Given the description of an element on the screen output the (x, y) to click on. 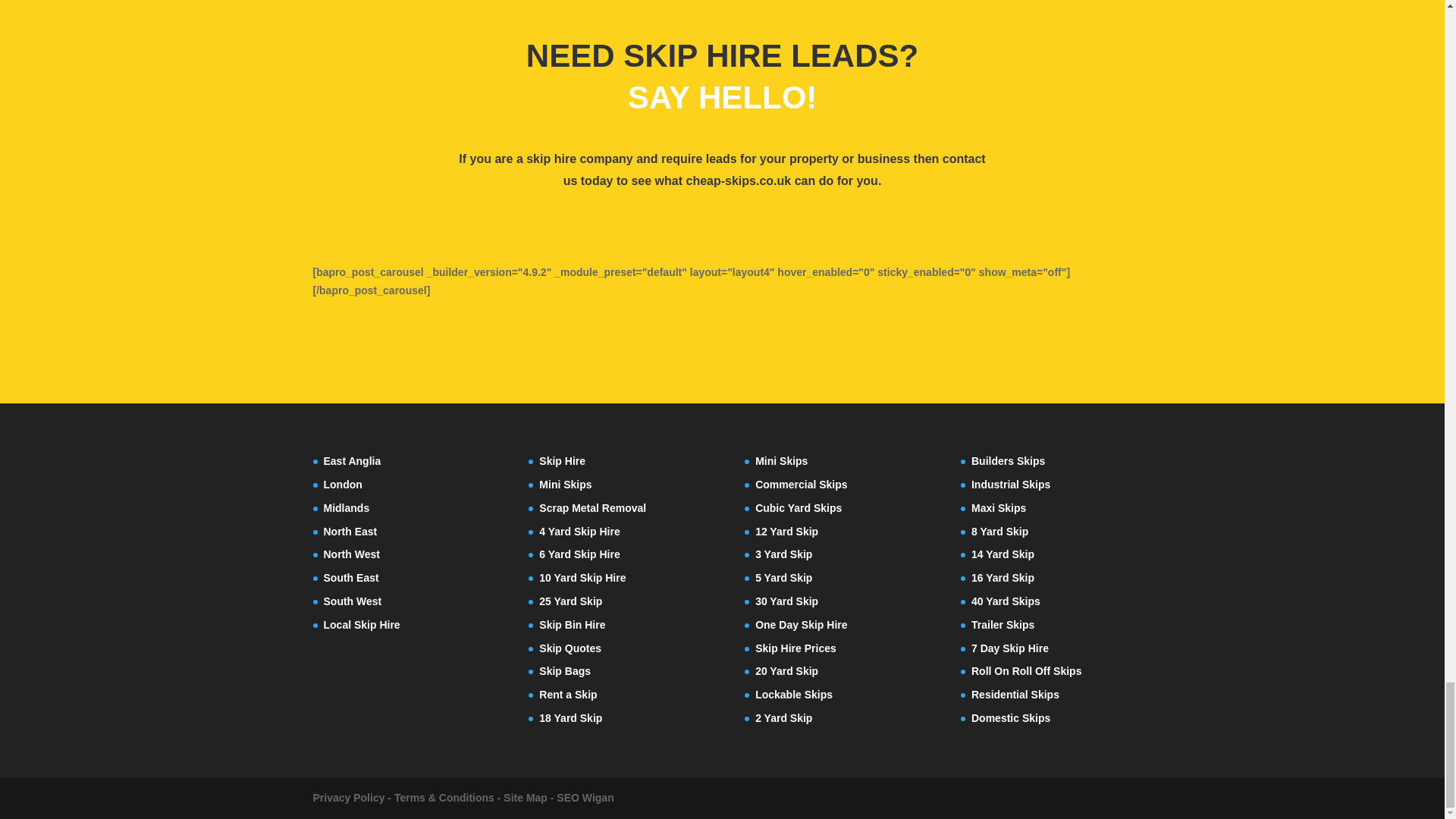
Local Skip Hire (360, 624)
6 Yard Skip Hire (579, 553)
Commercial Skips (801, 484)
Site Map (525, 797)
Mini Skips (564, 484)
Privacy Policy (348, 797)
North West (350, 553)
London (342, 484)
South West (352, 601)
SEO Wigan (584, 797)
